Given the description of an element on the screen output the (x, y) to click on. 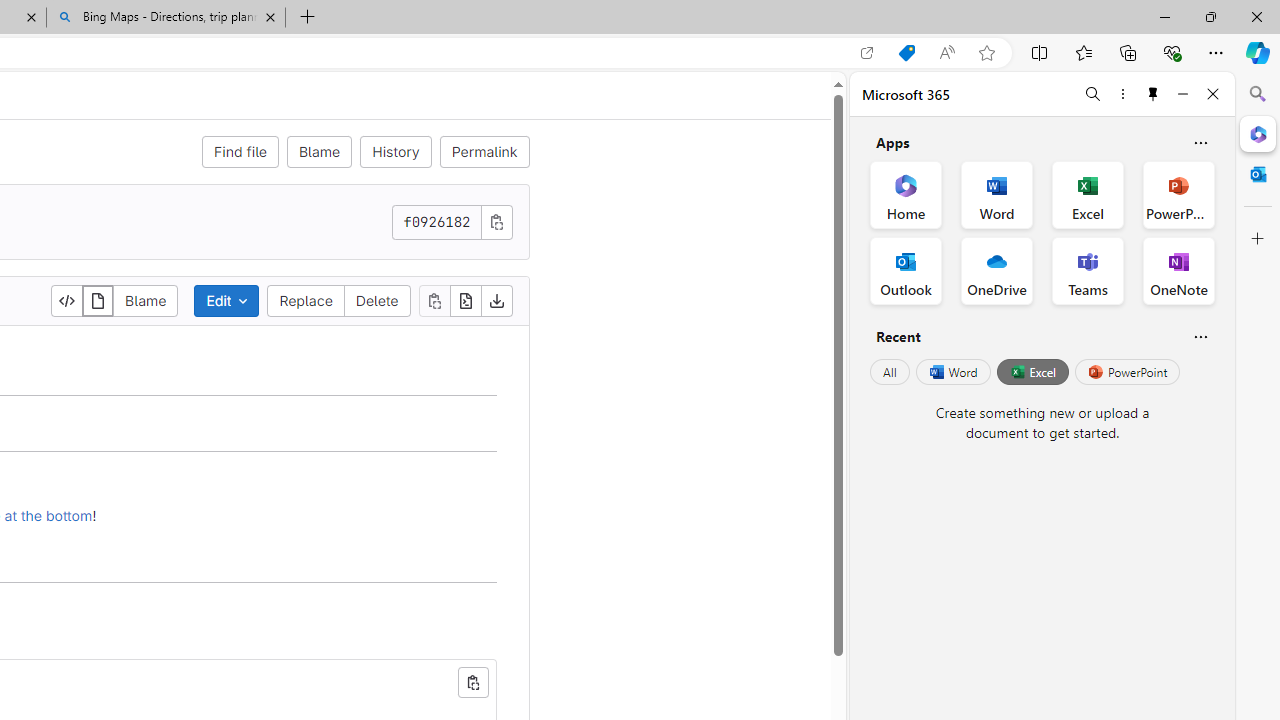
Delete (376, 300)
Class: btn btn-default btn-md gl-button btn-icon has-tooltip (472, 682)
History (395, 151)
Outlook Office App (906, 270)
OneNote Office App (1178, 270)
Copy file contents (434, 300)
Class: s16 gl-icon gl-button-icon  (496, 221)
